Given the description of an element on the screen output the (x, y) to click on. 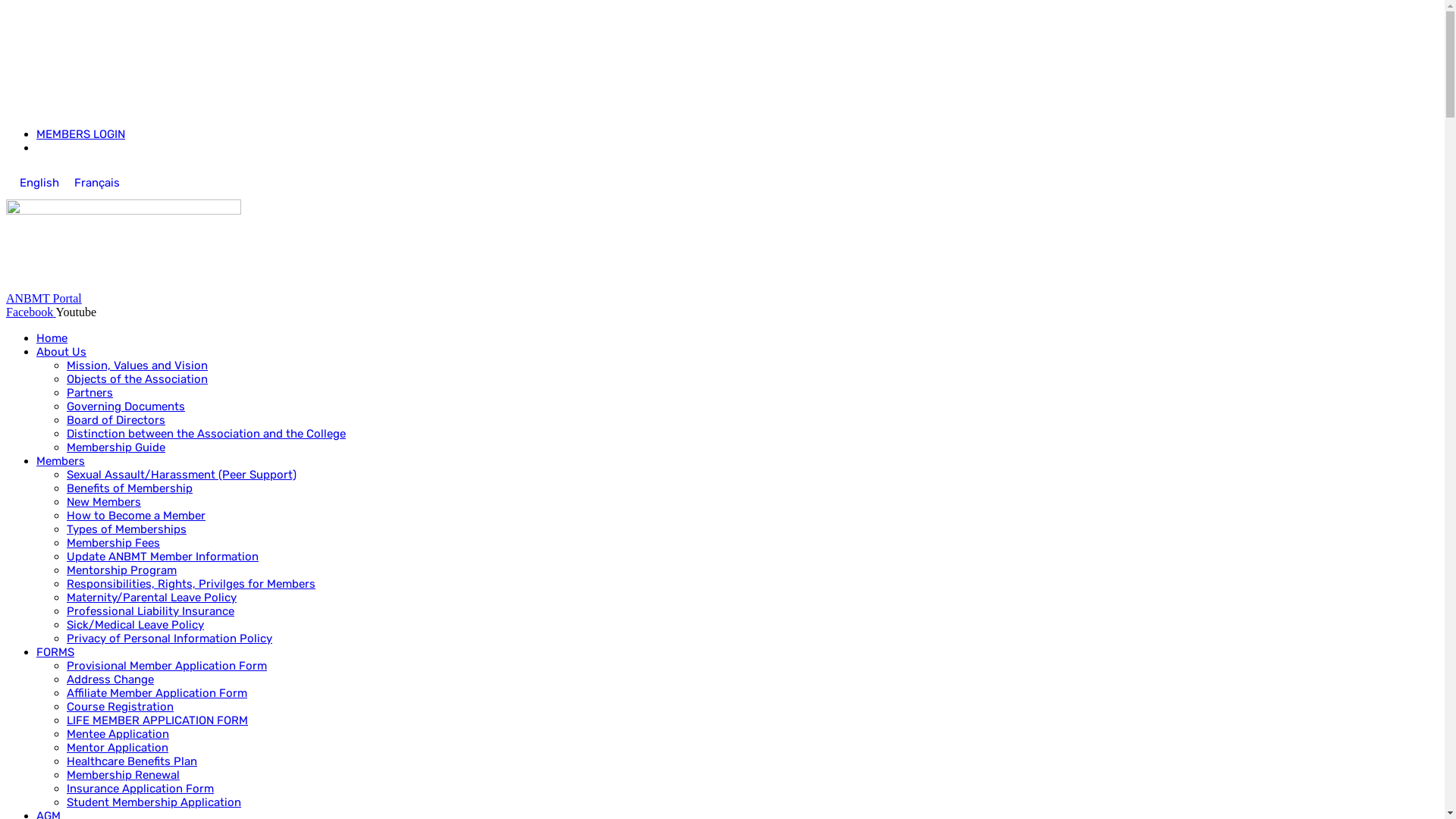
New Members Element type: text (103, 501)
Responsibilities, Rights, Privilges for Members Element type: text (190, 583)
Membership Guide Element type: text (115, 447)
Professional Liability Insurance Element type: text (150, 611)
COVID 19 UPDATES Element type: text (61, 46)
Sexual Assault/Harassment (Peer Support) Element type: text (181, 474)
Membership Renewal Element type: text (122, 774)
Partners Element type: text (89, 392)
Student Membership Application Element type: text (153, 802)
Provisional Member Application Form Element type: text (166, 665)
Membership Fees Element type: text (113, 542)
Governing Documents Element type: text (125, 406)
Sick/Medical Leave Policy Element type: text (134, 624)
English Element type: text (39, 182)
Mission, Values and Vision Element type: text (136, 365)
Privacy of Personal Information Policy Element type: text (169, 638)
Sexual Assault/Harassment (Peer Support) Element type: text (109, 107)
Benefits of Membership Element type: text (129, 488)
Home Element type: text (51, 338)
Mentorship Program Element type: text (121, 570)
Affiliate Member Application Form Element type: text (156, 692)
Insurance Application Form Element type: text (139, 788)
Healthcare Benefits Plan Element type: text (131, 761)
Mentor Application Element type: text (117, 747)
Distinction between the Association and the College Element type: text (205, 433)
How to Become a Member Element type: text (135, 515)
Maternity/Parental Leave Policy Element type: text (151, 597)
MEMBERS LOGIN Element type: text (80, 134)
Board of Directors Element type: text (115, 419)
Facebook Element type: text (31, 311)
Skip to content Element type: text (5, 5)
Course Registration Element type: text (119, 706)
Members Element type: text (60, 460)
Youtube Element type: text (76, 311)
Types of Memberships Element type: text (126, 529)
Update ANBMT Member Information Element type: text (162, 556)
About Us Element type: text (61, 351)
Address Change Element type: text (109, 679)
Objects of the Association Element type: text (136, 378)
Mentee Application Element type: text (117, 733)
ANBMT Portal Element type: text (43, 297)
LIFE MEMBER APPLICATION FORM Element type: text (156, 720)
FORMS Element type: text (55, 651)
